Given the description of an element on the screen output the (x, y) to click on. 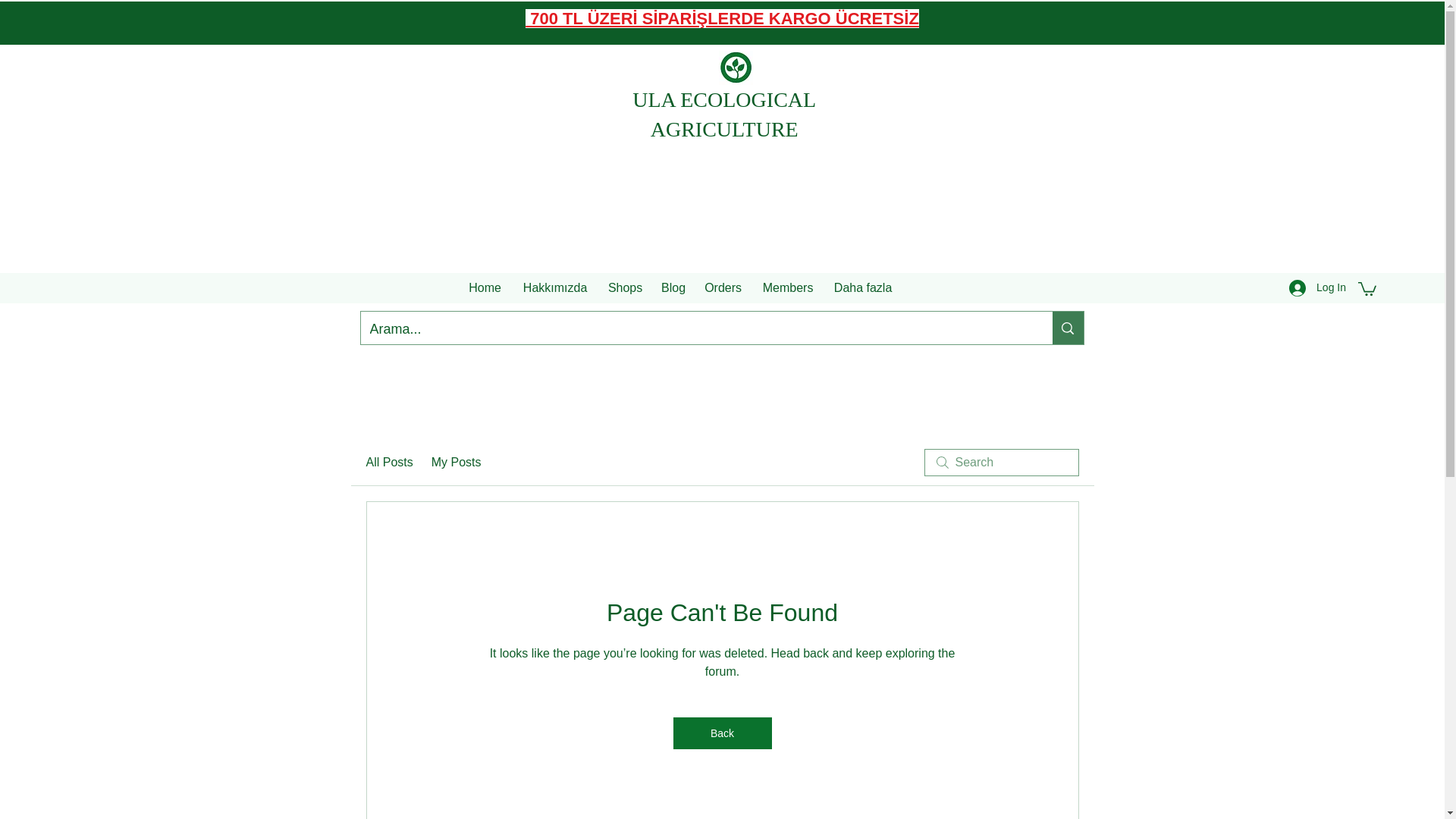
Home (485, 287)
Orders (723, 287)
All Posts (388, 462)
ULA ECOLOGICAL AGRICULTURE (723, 113)
Log In (1317, 287)
Shops (625, 287)
Back (721, 733)
Blog (673, 287)
Members (788, 287)
My Posts (455, 462)
